Given the description of an element on the screen output the (x, y) to click on. 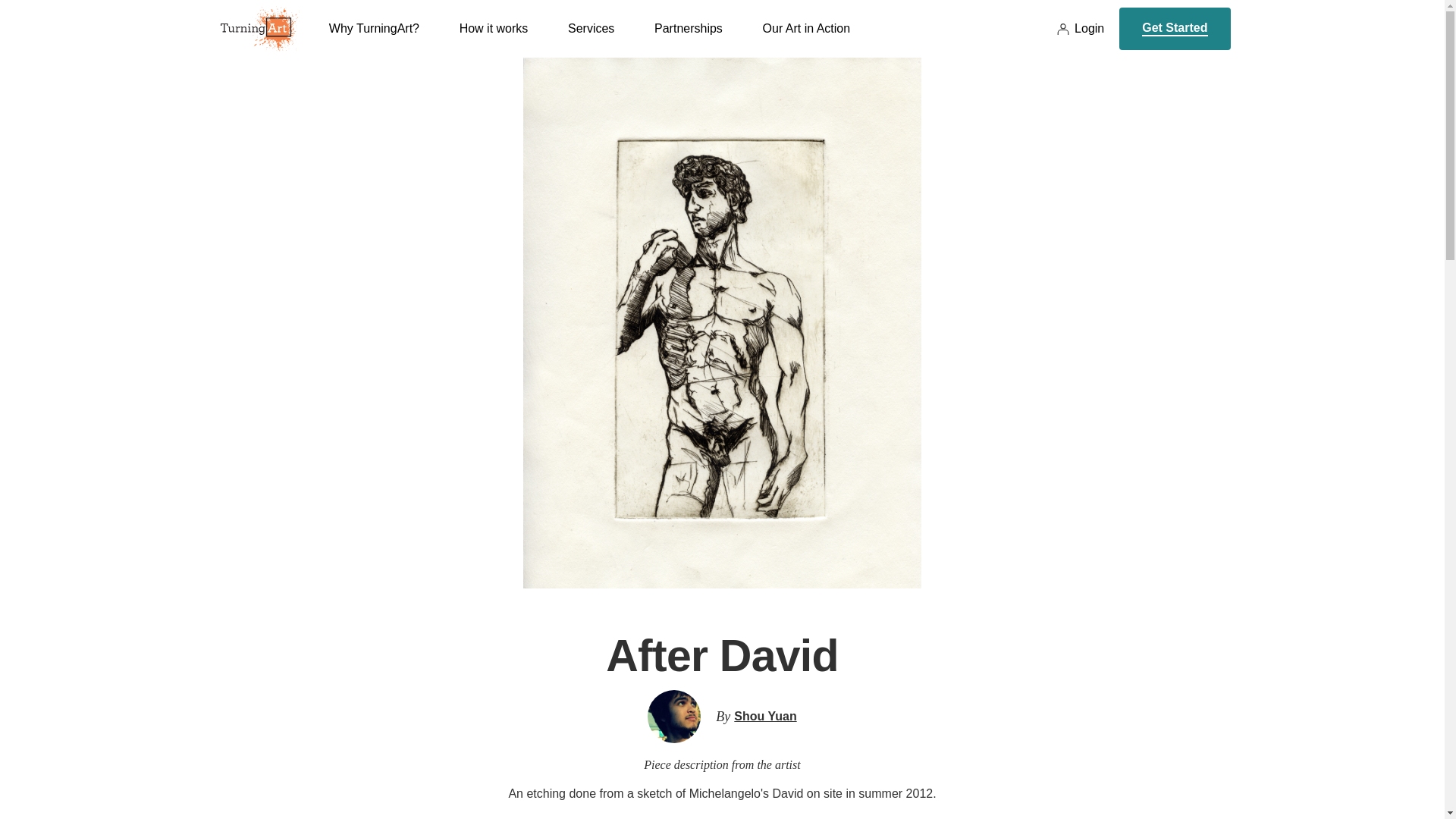
Our Art in Action (806, 38)
Login (1080, 28)
Shou Yuan (764, 716)
How it works (494, 38)
Why TurningArt? (374, 38)
Services (590, 38)
Partnerships (687, 38)
Get Started (1174, 28)
